Given the description of an element on the screen output the (x, y) to click on. 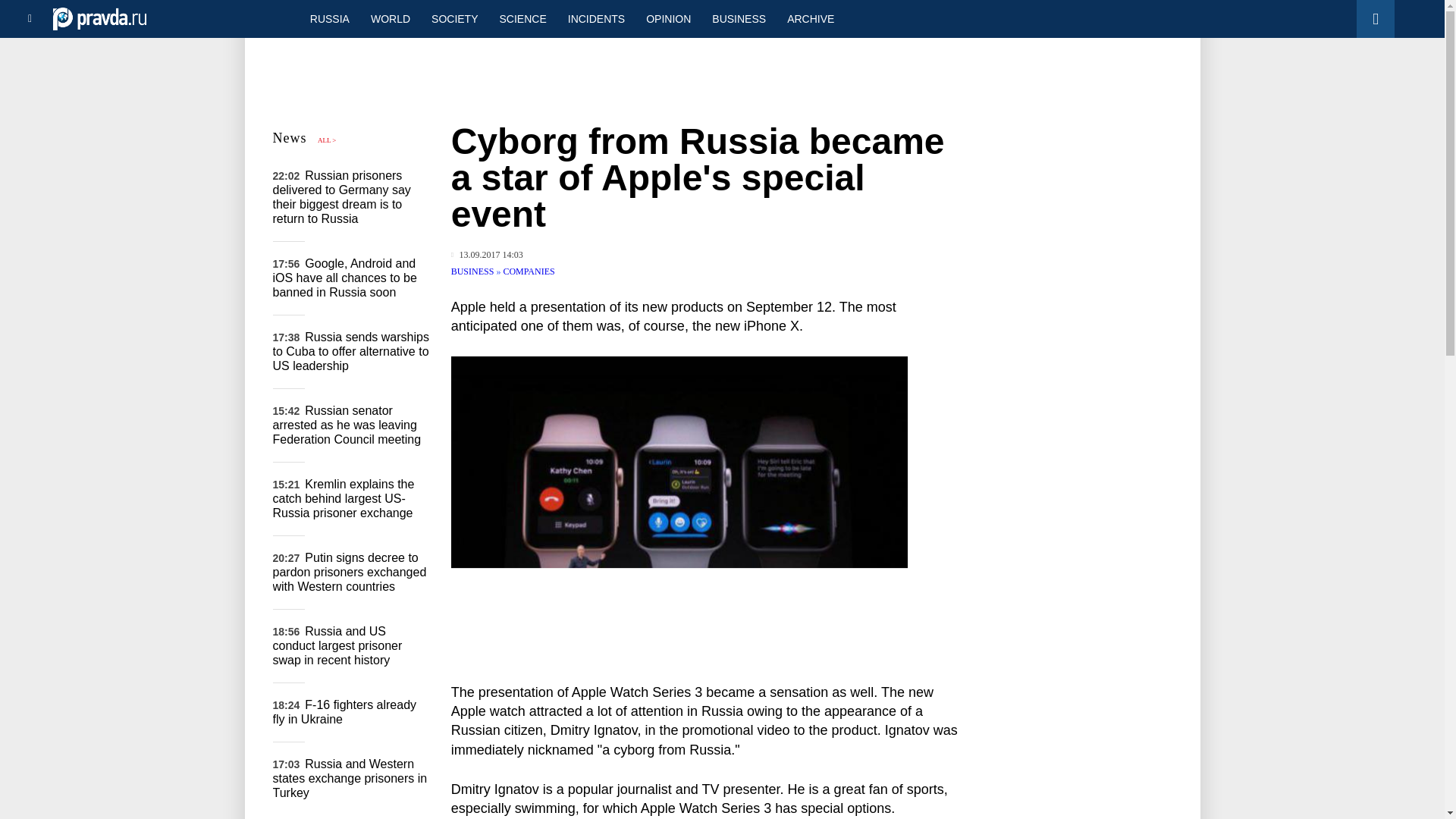
INCIDENTS (595, 18)
News (290, 137)
WORLD (389, 18)
OPINION (667, 18)
SOCIETY (453, 18)
F-16 fighters already fly in Ukraine (344, 711)
RUSSIA (329, 18)
BUSINESS (473, 271)
BUSINESS (738, 18)
ARCHIVE (810, 18)
